Given the description of an element on the screen output the (x, y) to click on. 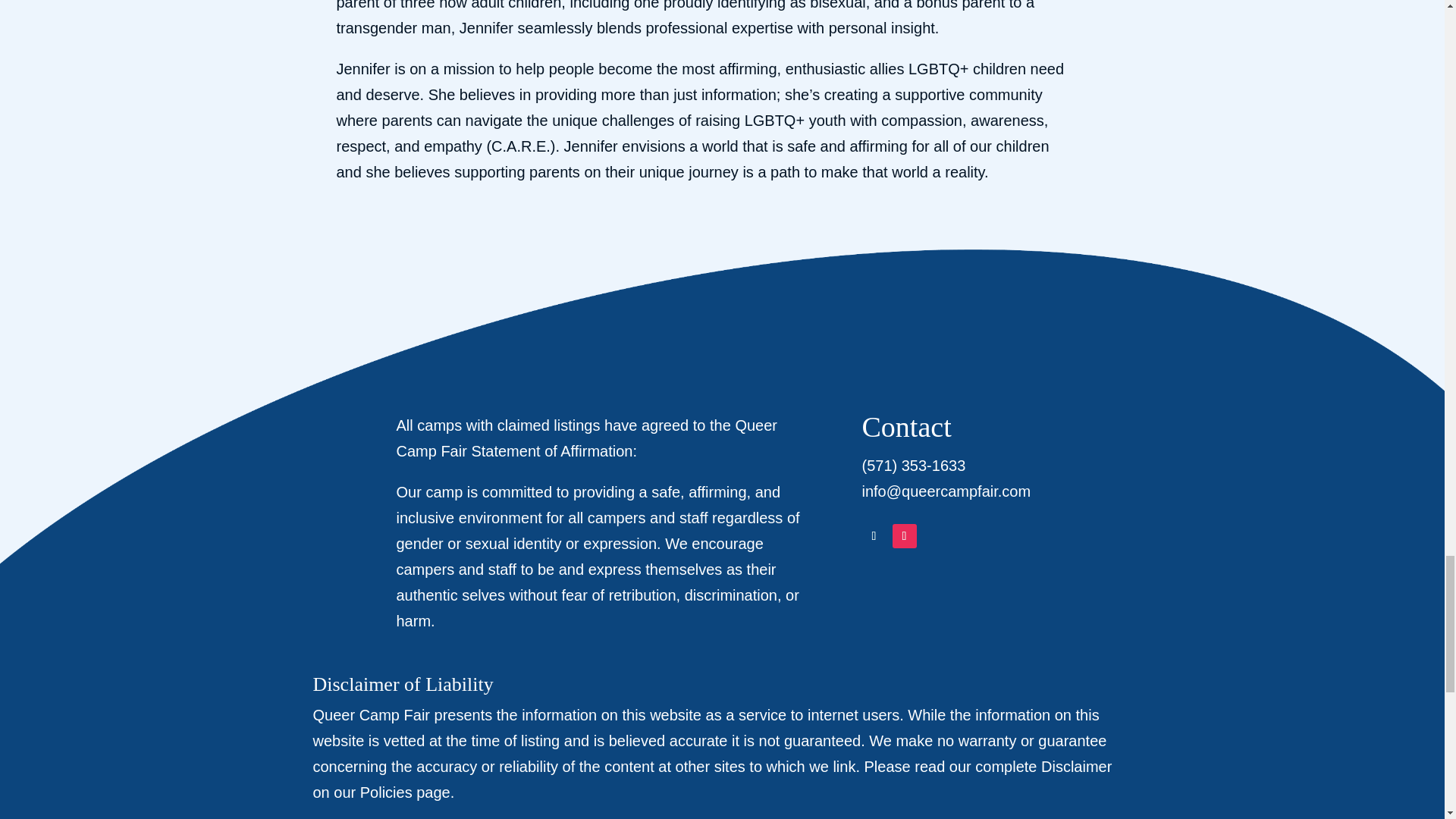
Follow on Facebook (873, 535)
Follow on Instagram (903, 535)
